Given the description of an element on the screen output the (x, y) to click on. 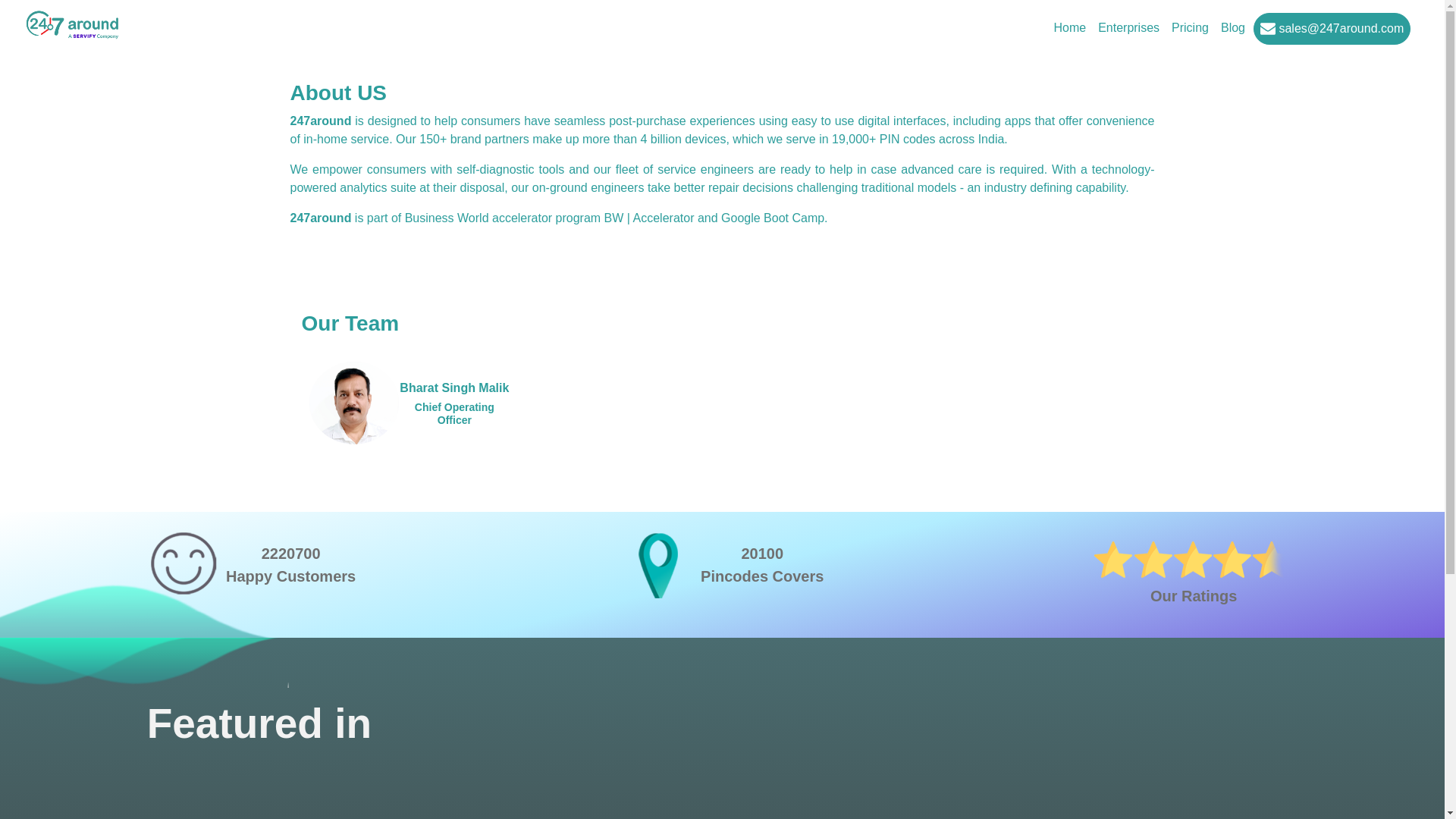
Pricing Element type: text (1189, 27)
Blog Element type: text (1232, 27)
BW | Accelerator Element type: text (649, 217)
Home Element type: text (1069, 27)
sales@247around.com Element type: text (1331, 28)
Enterprises Element type: text (1128, 27)
